Given the description of an element on the screen output the (x, y) to click on. 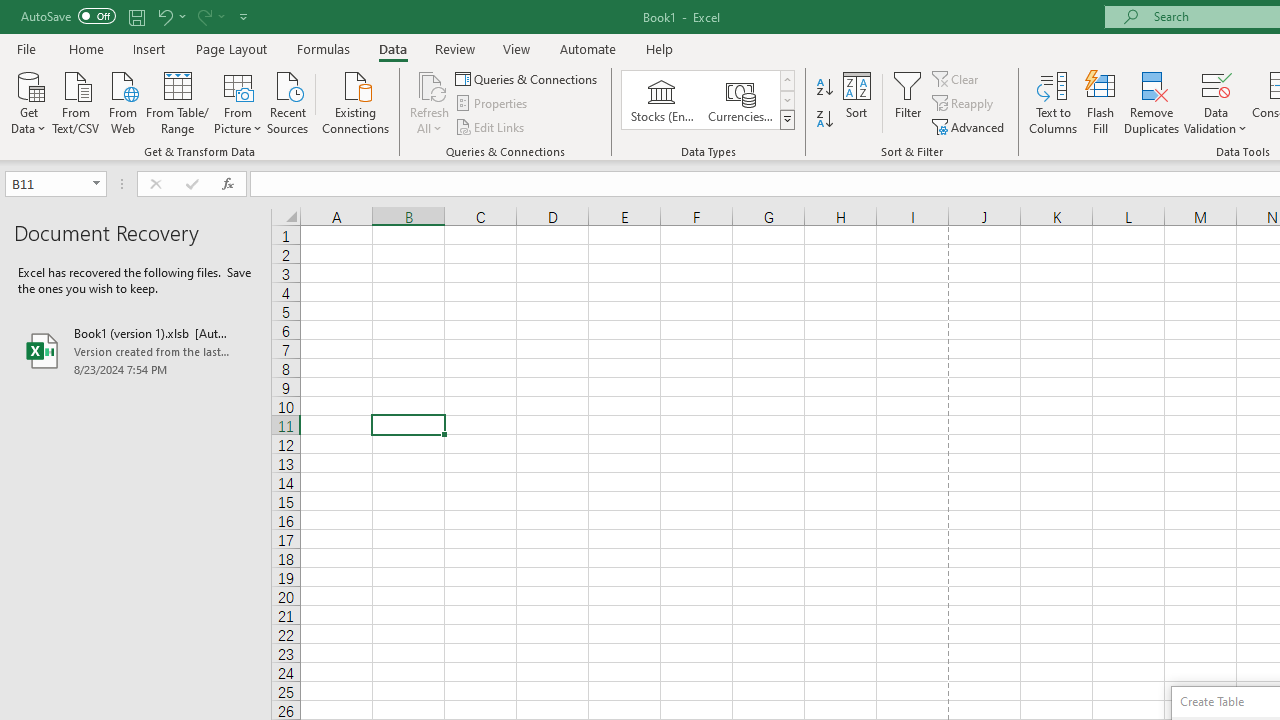
Sort Z to A (824, 119)
From Picture (238, 101)
Edit Links (491, 126)
Currencies (English) (740, 100)
Text to Columns... (1053, 102)
Stocks (English) (662, 100)
Queries & Connections (527, 78)
AutoSave (68, 16)
Get Data (28, 101)
